Given the description of an element on the screen output the (x, y) to click on. 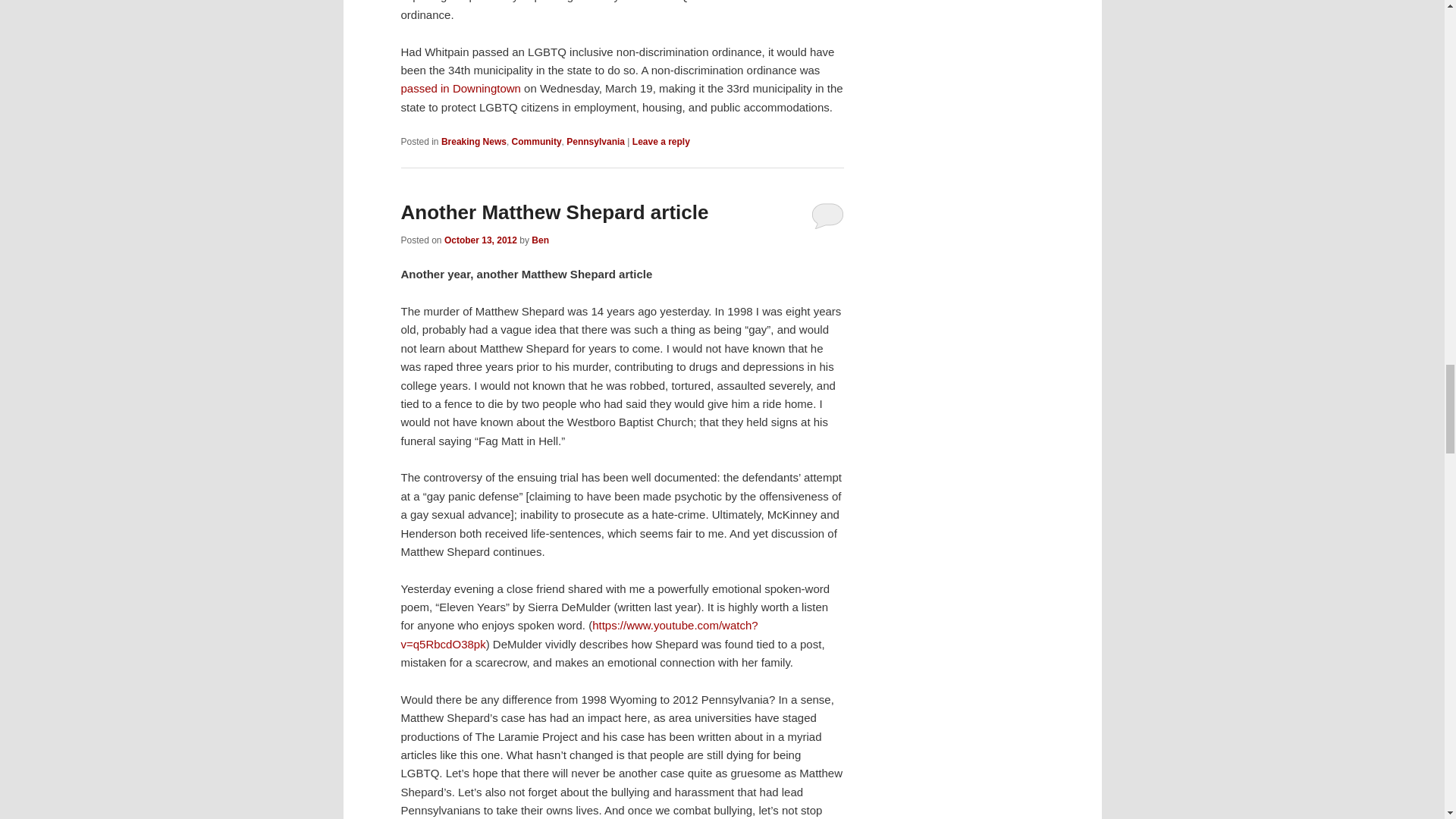
Breaking News (473, 141)
6:30 pm (480, 240)
View all posts by Ben (539, 240)
passed in Downingtown (459, 88)
Community (537, 141)
Downingtown Adopts Non-Discrimination Ordinance (459, 88)
Permalink to Another Matthew Shepard article (553, 211)
